Given the description of an element on the screen output the (x, y) to click on. 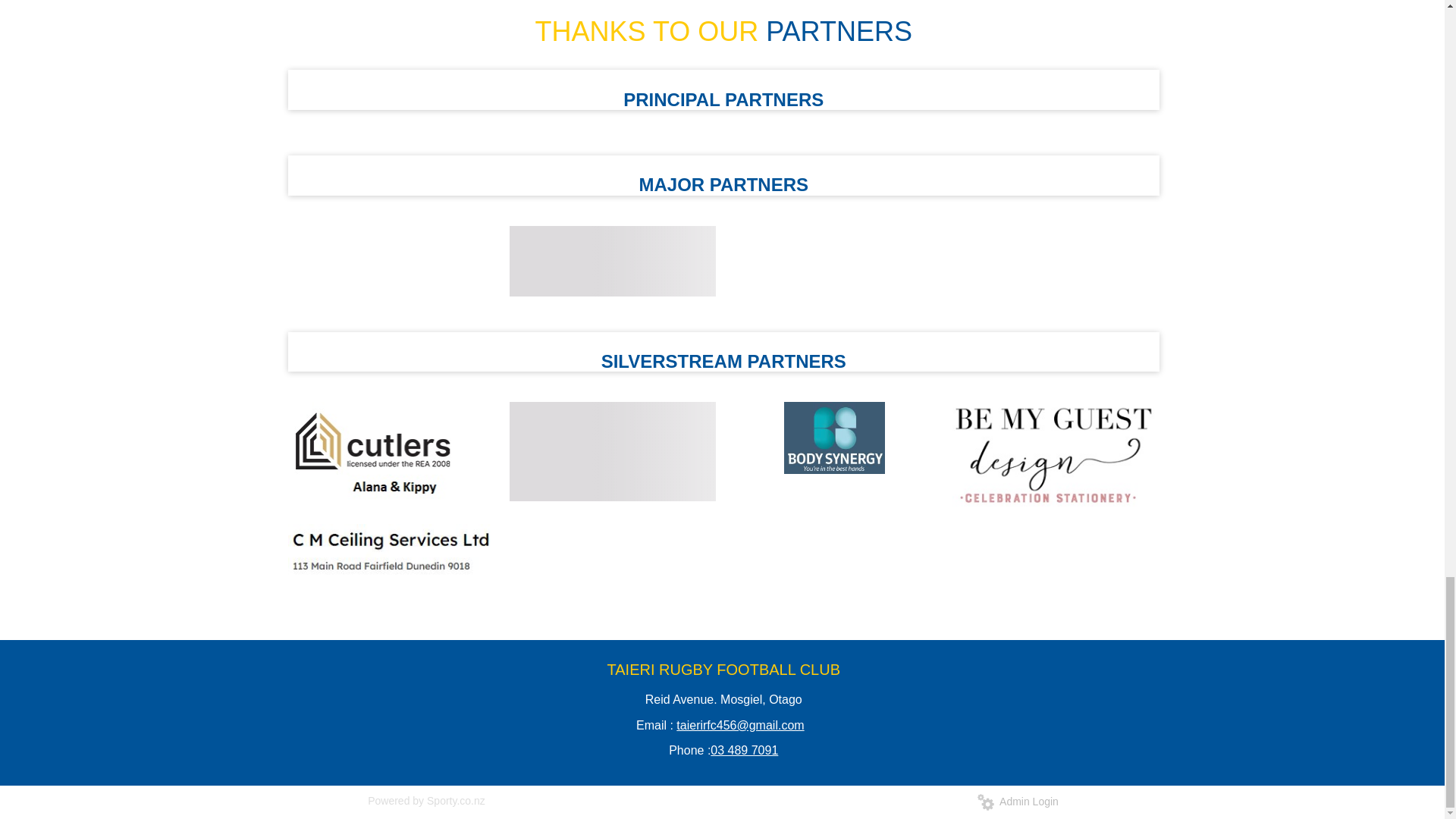
03 489 7091 (743, 749)
Powered by Sporty.co.nz (426, 800)
  Admin Login (1017, 801)
